Given the description of an element on the screen output the (x, y) to click on. 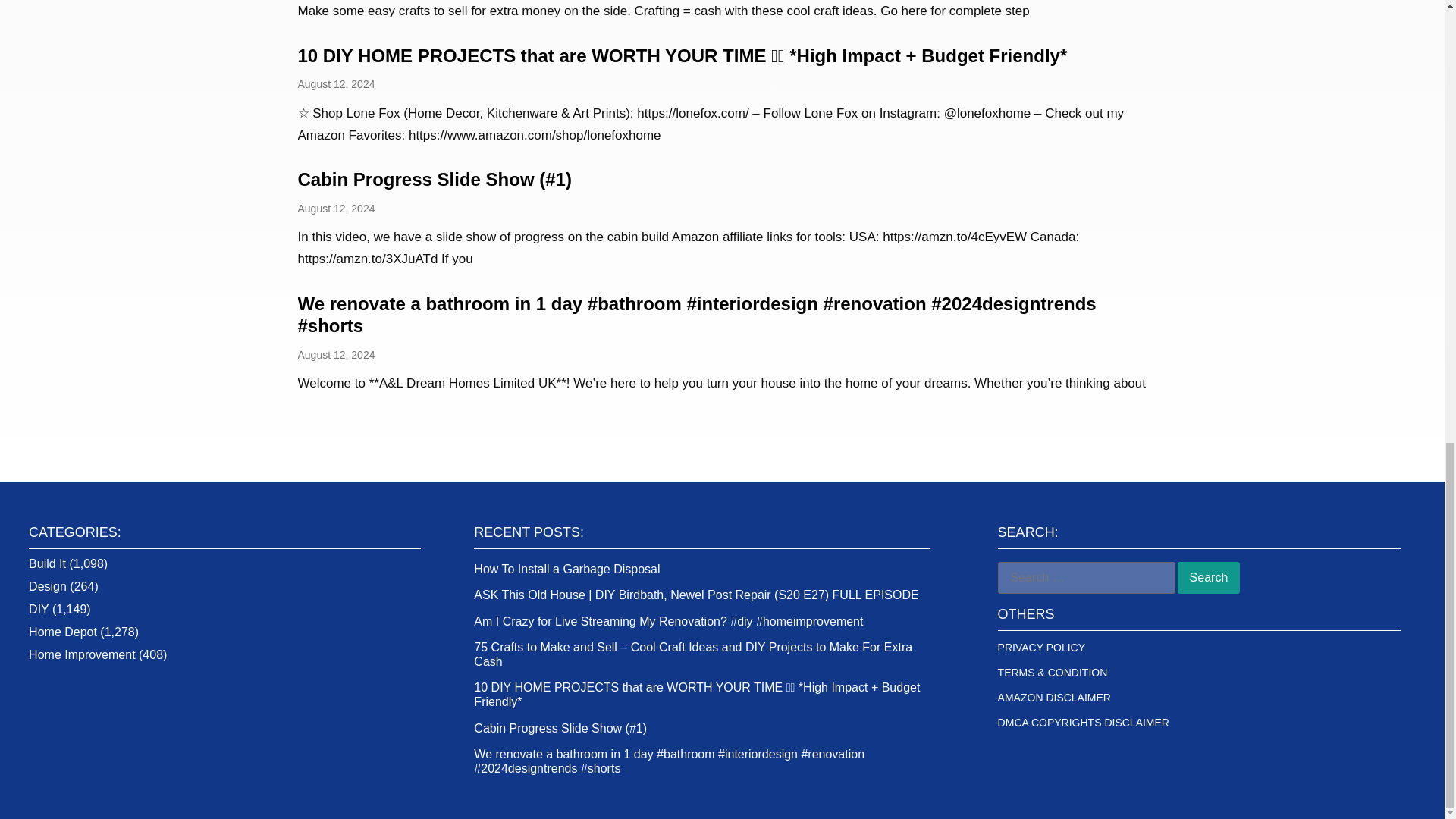
DIY (38, 608)
Search (1208, 577)
Build It (47, 563)
Home Depot (63, 631)
Home Improvement (82, 654)
Search (1208, 577)
How To Install a Garbage Disposal (566, 568)
Design (47, 585)
